Given the description of an element on the screen output the (x, y) to click on. 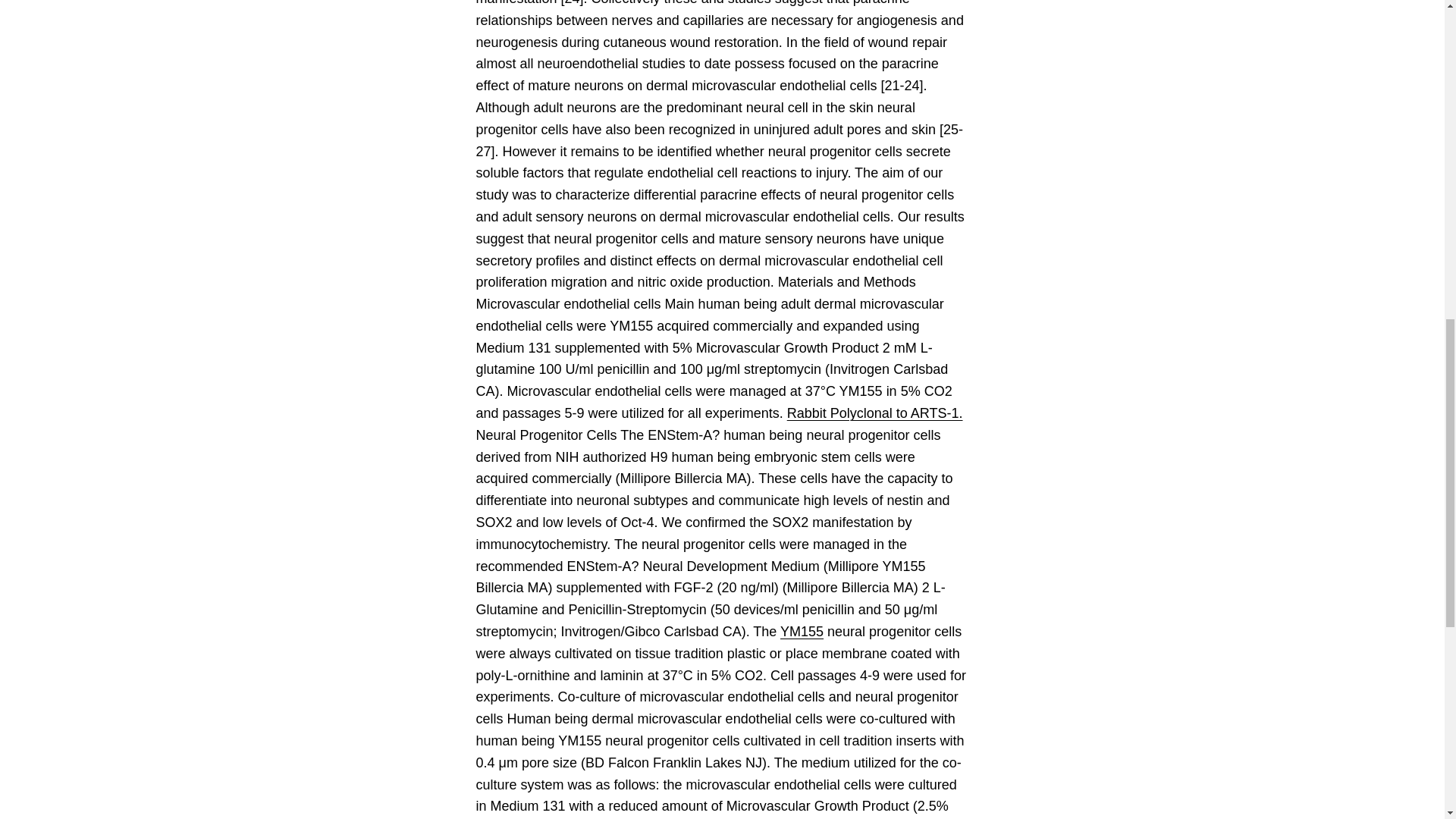
Rabbit Polyclonal to ARTS-1. (874, 412)
YM155 (802, 631)
